Given the description of an element on the screen output the (x, y) to click on. 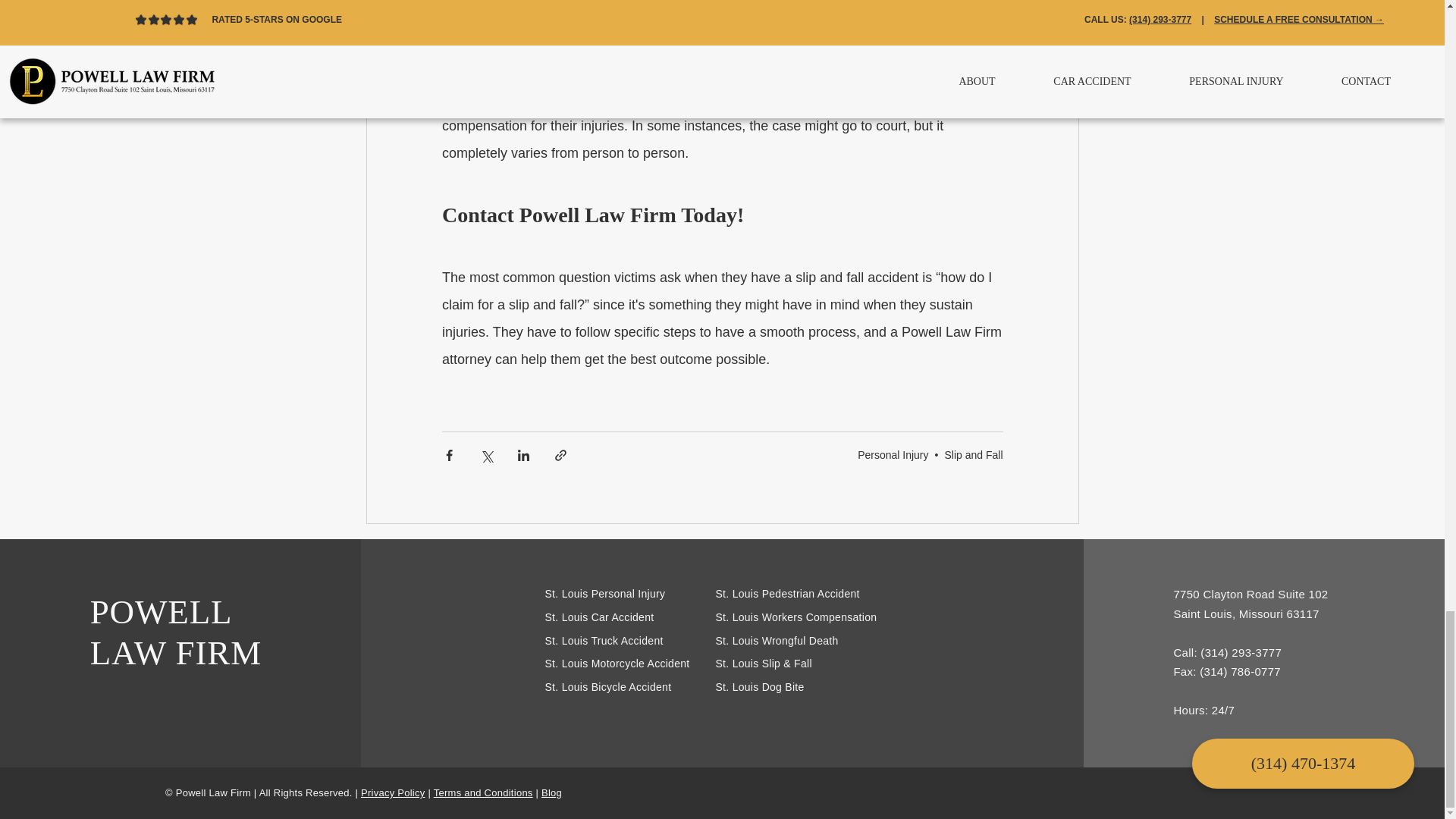
Personal Injury (892, 453)
St. Louis Bicycle Accident (607, 686)
St. Louis Truck Accident (603, 640)
St. Louis Motorcycle Accident (616, 663)
St. Louis Workers Compensation (796, 616)
premises liability lawyer (540, 70)
St. Louis Wrongful Death (777, 640)
Slip and Fall (973, 453)
St. Louis Pedestrian Accident (788, 593)
lawyer (876, 16)
